Given the description of an element on the screen output the (x, y) to click on. 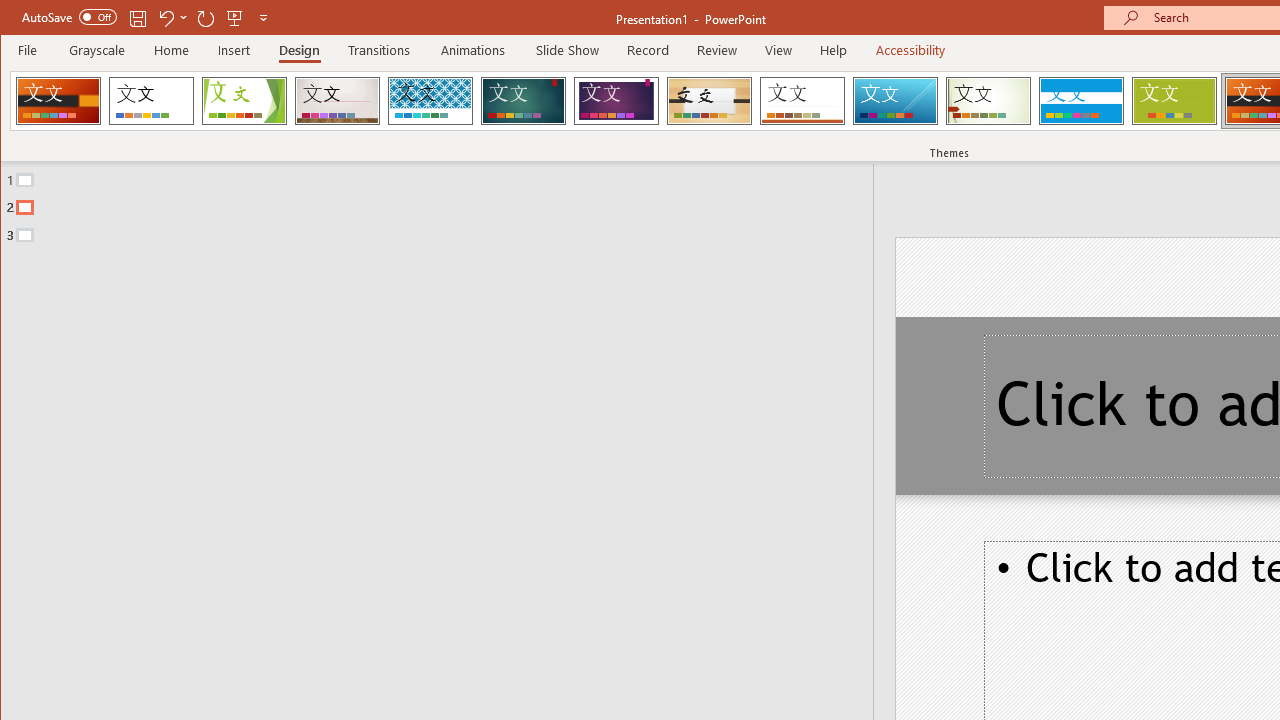
Basis (1174, 100)
